Given the description of an element on the screen output the (x, y) to click on. 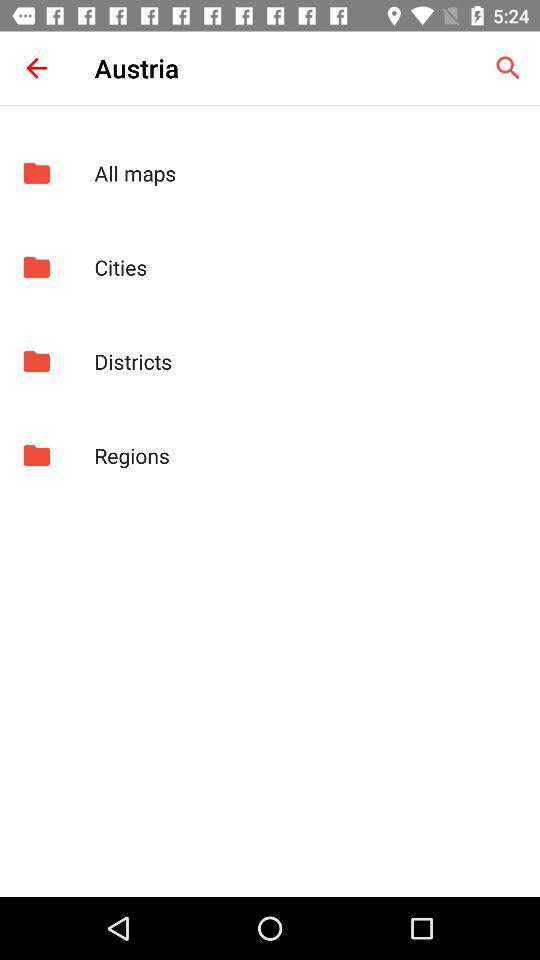
swipe to regions (306, 455)
